Given the description of an element on the screen output the (x, y) to click on. 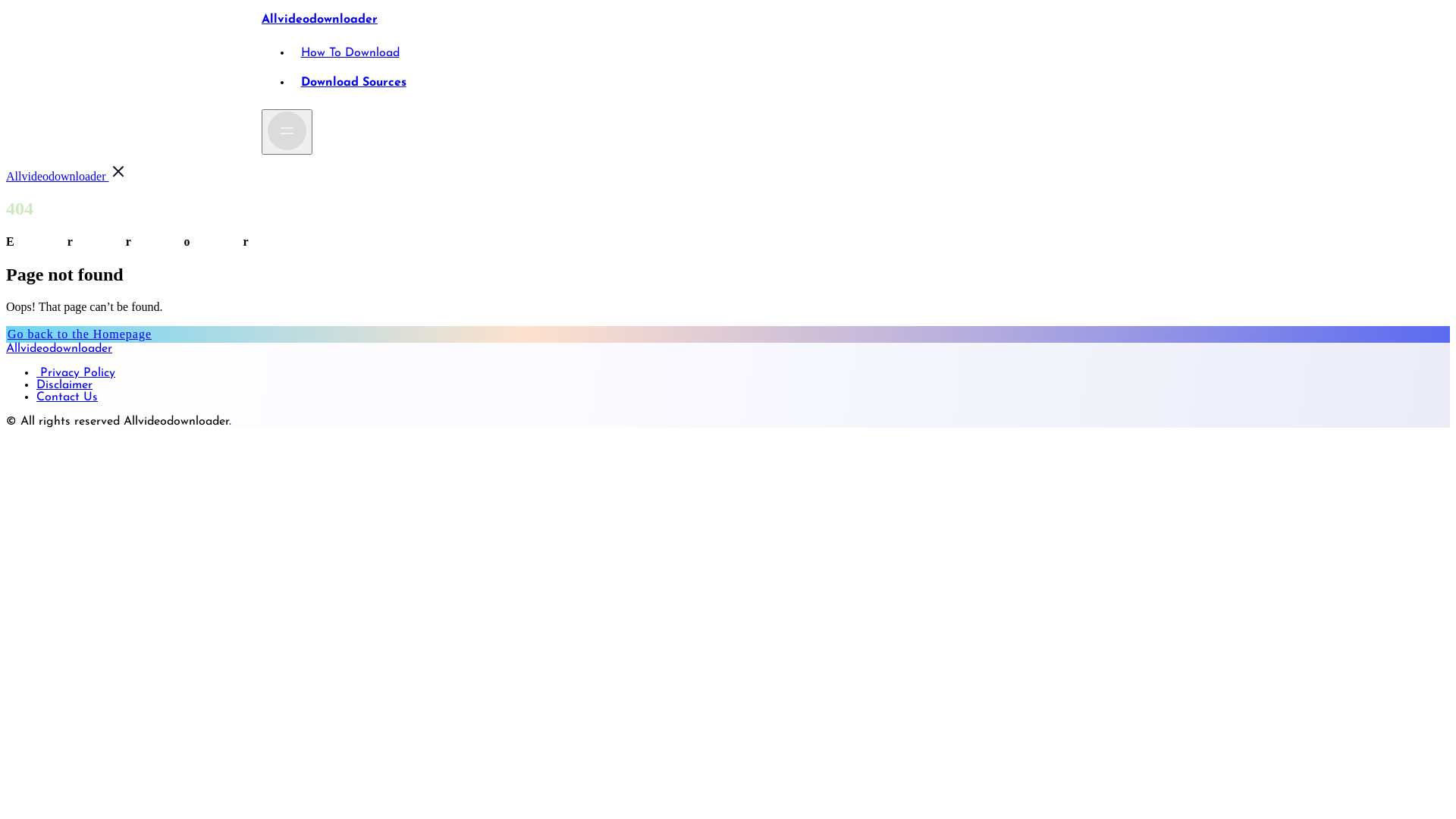
Disclaimer Element type: text (64, 385)
Allvideodownloader Element type: text (57, 175)
Allvideodownloader Element type: text (59, 348)
Go back to the Homepage Element type: text (79, 333)
How To Download Element type: text (349, 53)
Contact Us Element type: text (66, 397)
Download Sources Element type: text (352, 81)
Allvideodownloader Element type: text (319, 19)
